Given the description of an element on the screen output the (x, y) to click on. 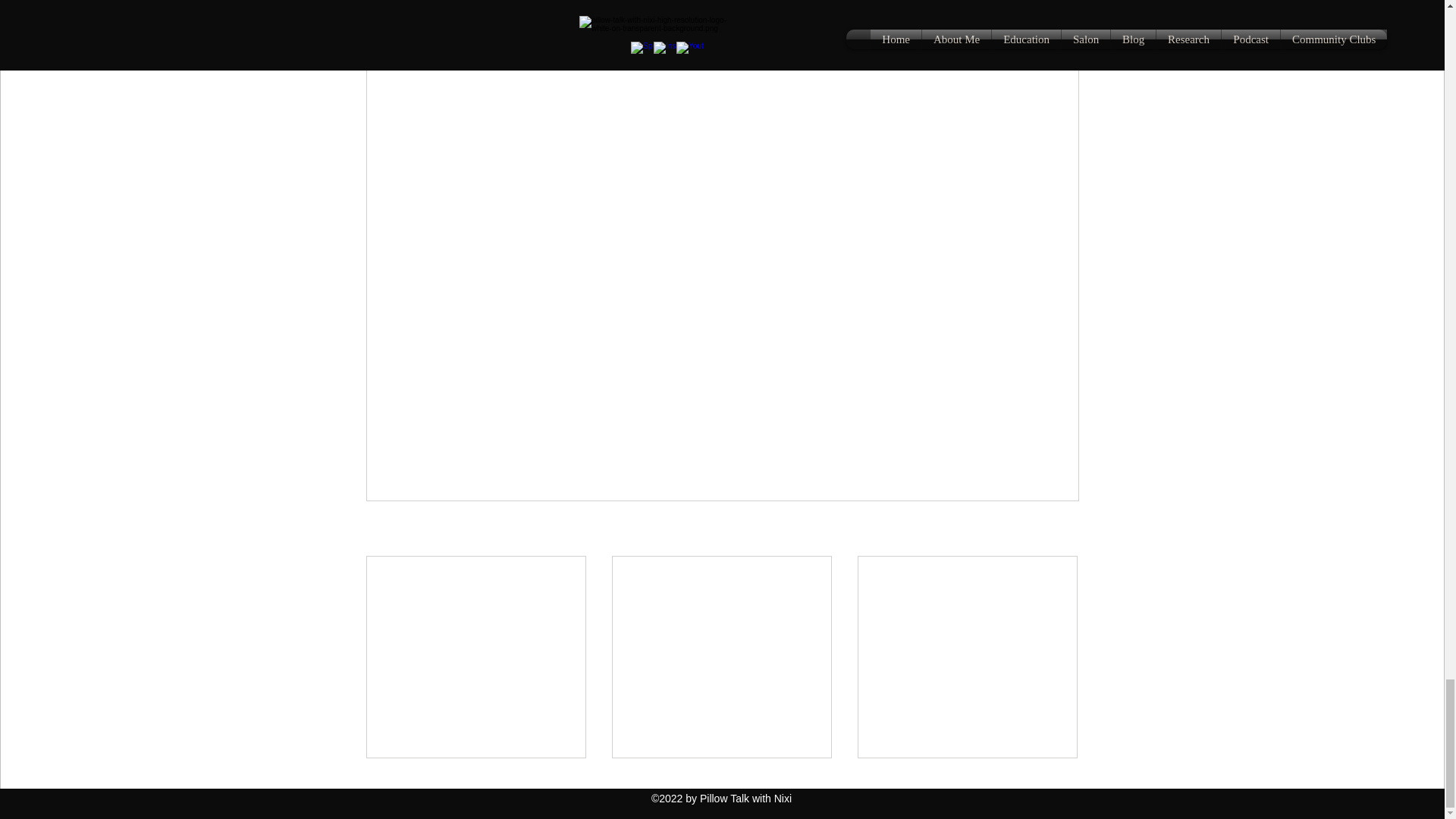
See All (1061, 529)
History of Sexology (690, 431)
Understand your Erotic Self (817, 431)
The Poop Prodigy (476, 705)
What's the Goss? (721, 705)
